Given the description of an element on the screen output the (x, y) to click on. 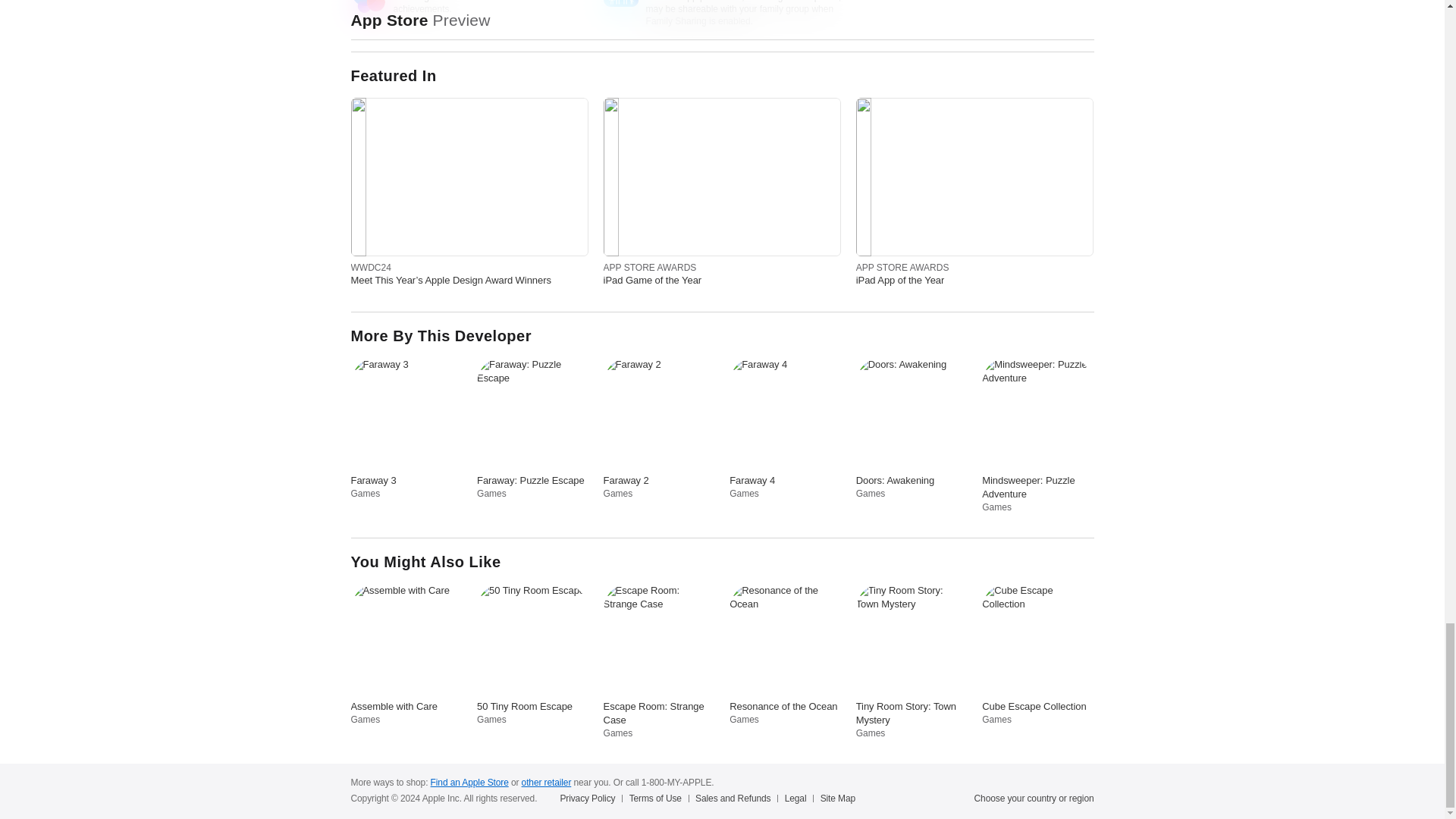
Choose your country or region (1034, 798)
